Given the description of an element on the screen output the (x, y) to click on. 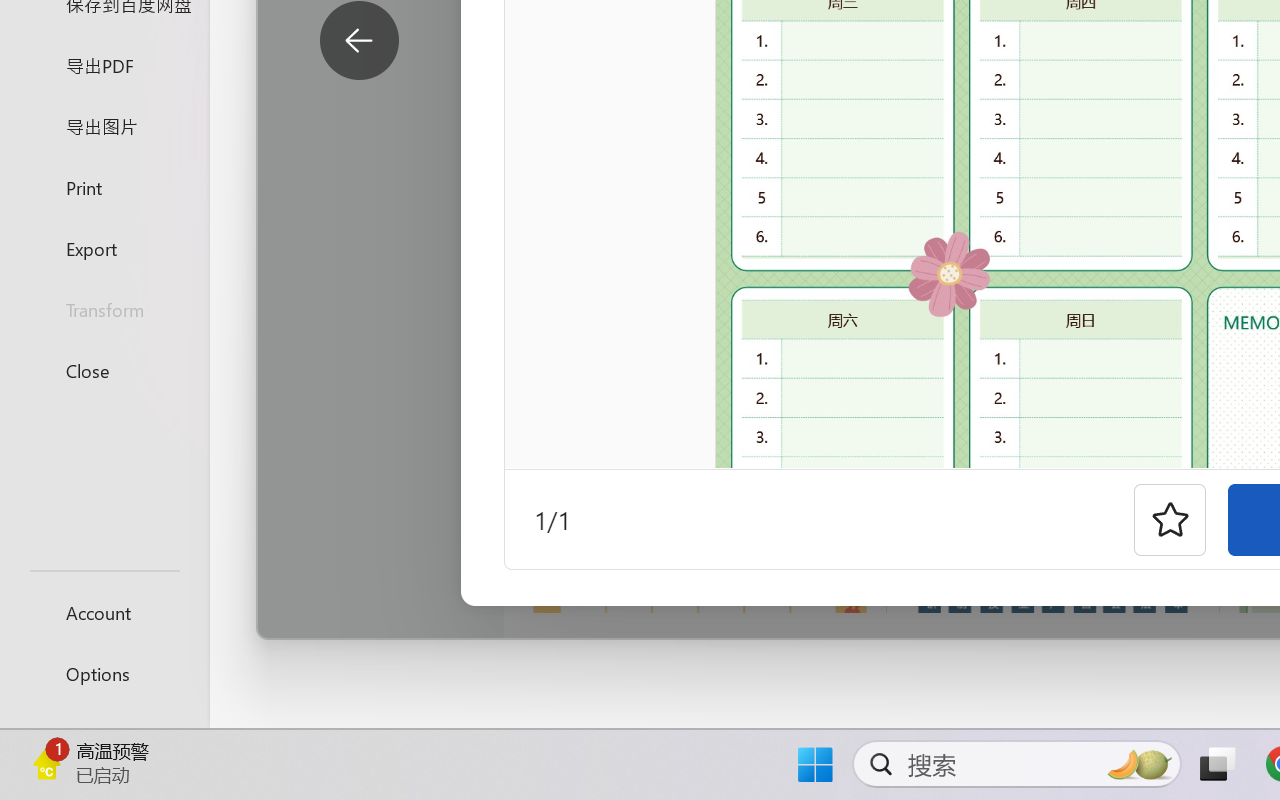
Print (104, 186)
Account (104, 612)
Export (104, 248)
Transform (104, 309)
Options (104, 673)
